Given the description of an element on the screen output the (x, y) to click on. 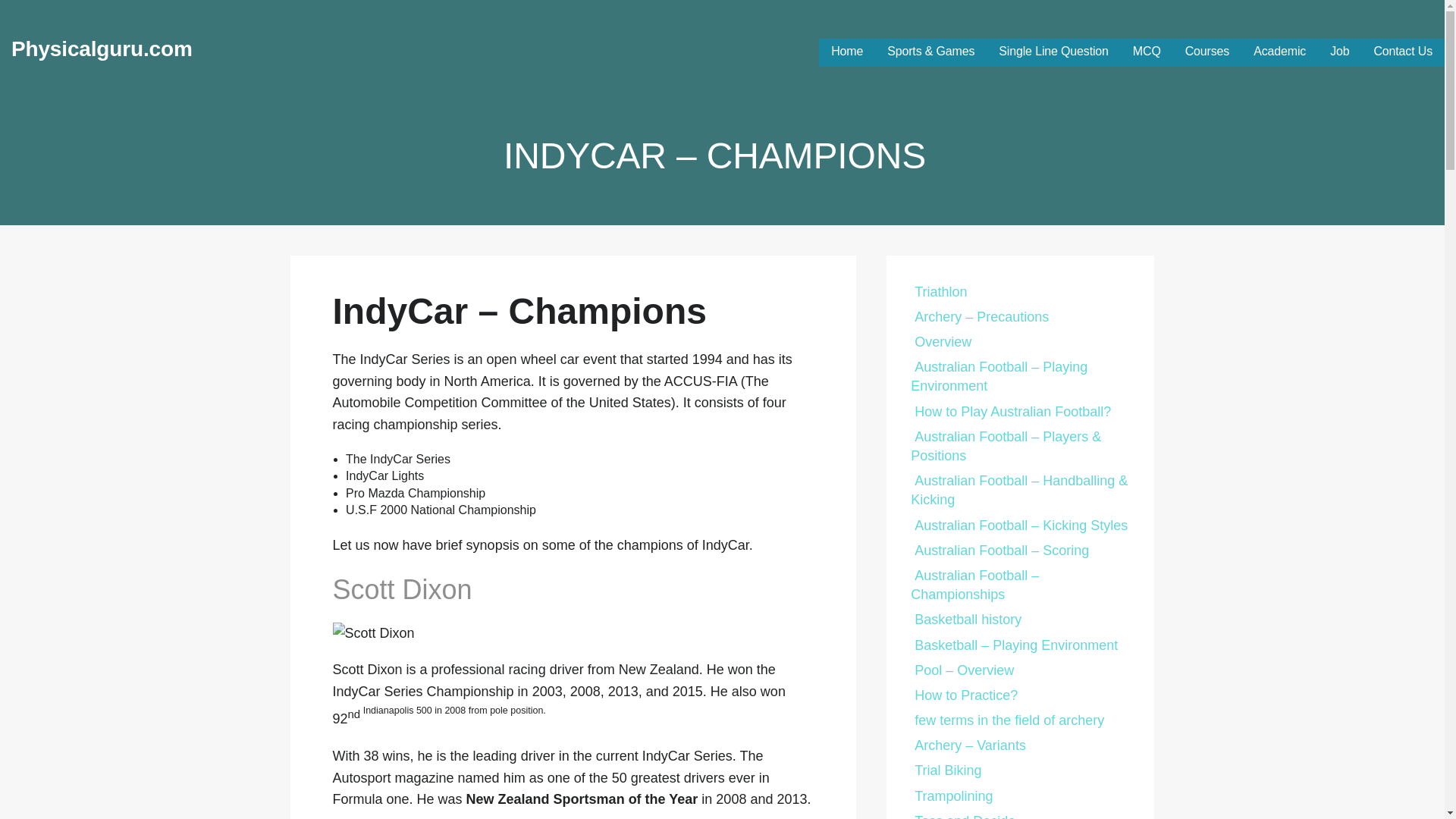
Basketball history (966, 619)
How to Practice? (964, 694)
Home (847, 52)
Trampolining (951, 795)
Overview (941, 341)
MCQ (1146, 52)
How to Play Australian Football? (1010, 411)
Physicalguru.com (101, 48)
Courses (1206, 52)
Toss and Decide (962, 816)
